Given the description of an element on the screen output the (x, y) to click on. 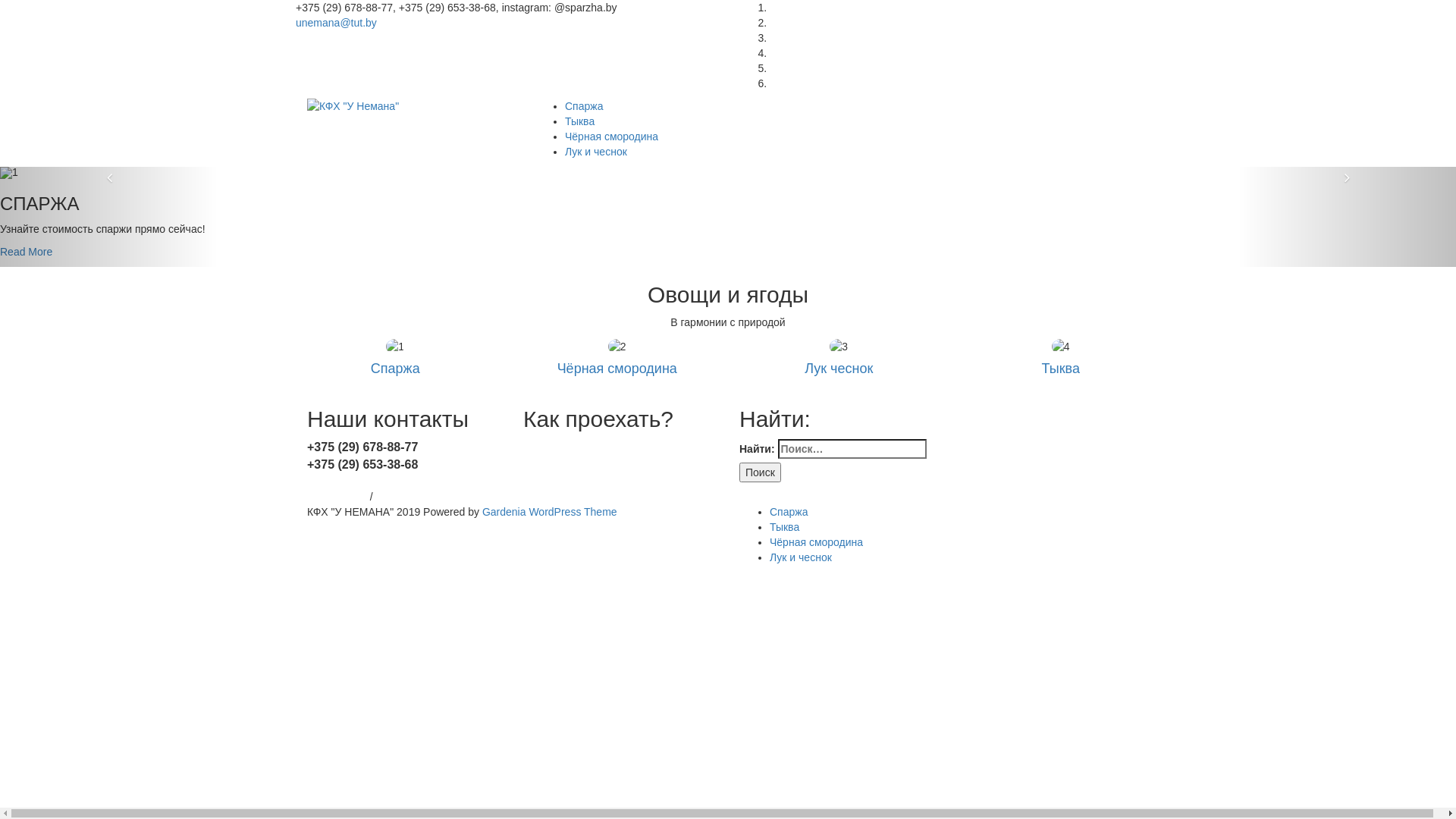
unemana@tut.by Element type: text (335, 22)
Gardenia WordPress Theme Element type: text (549, 511)
unemana@tut.by; Element type: text (349, 481)
Read More Element type: text (26, 251)
